Given the description of an element on the screen output the (x, y) to click on. 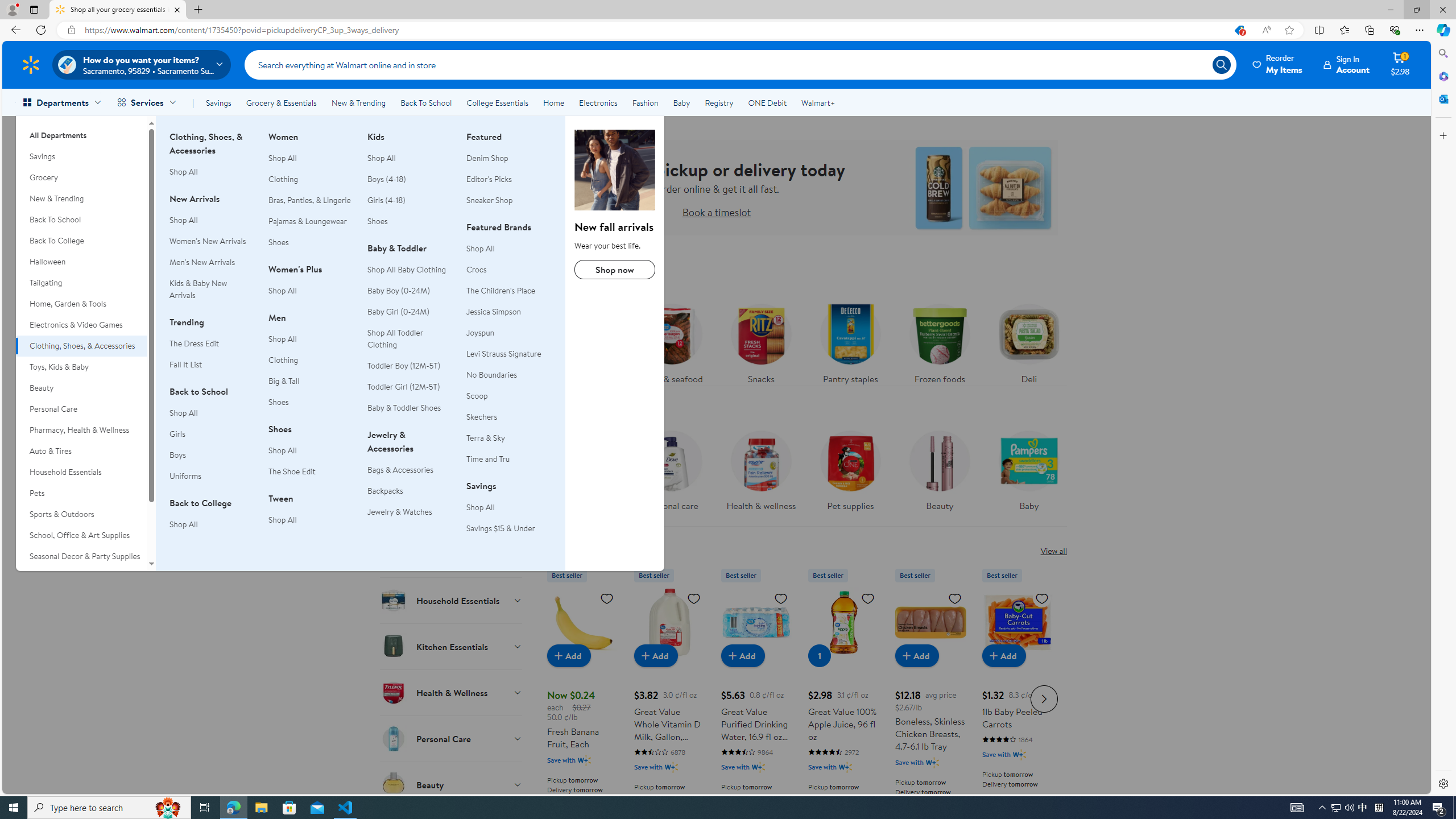
FeaturedDenim ShopEditor's PicksSneaker Shop (508, 174)
Bags & Accessories (399, 469)
Beauty (938, 467)
Snacks (761, 340)
Walmart Homepage (30, 64)
Sports & Outdoors (81, 513)
Pets (81, 493)
Baby Girl (0-24M) (409, 311)
Boys (4-18) (409, 179)
Skechers (481, 416)
